Given the description of an element on the screen output the (x, y) to click on. 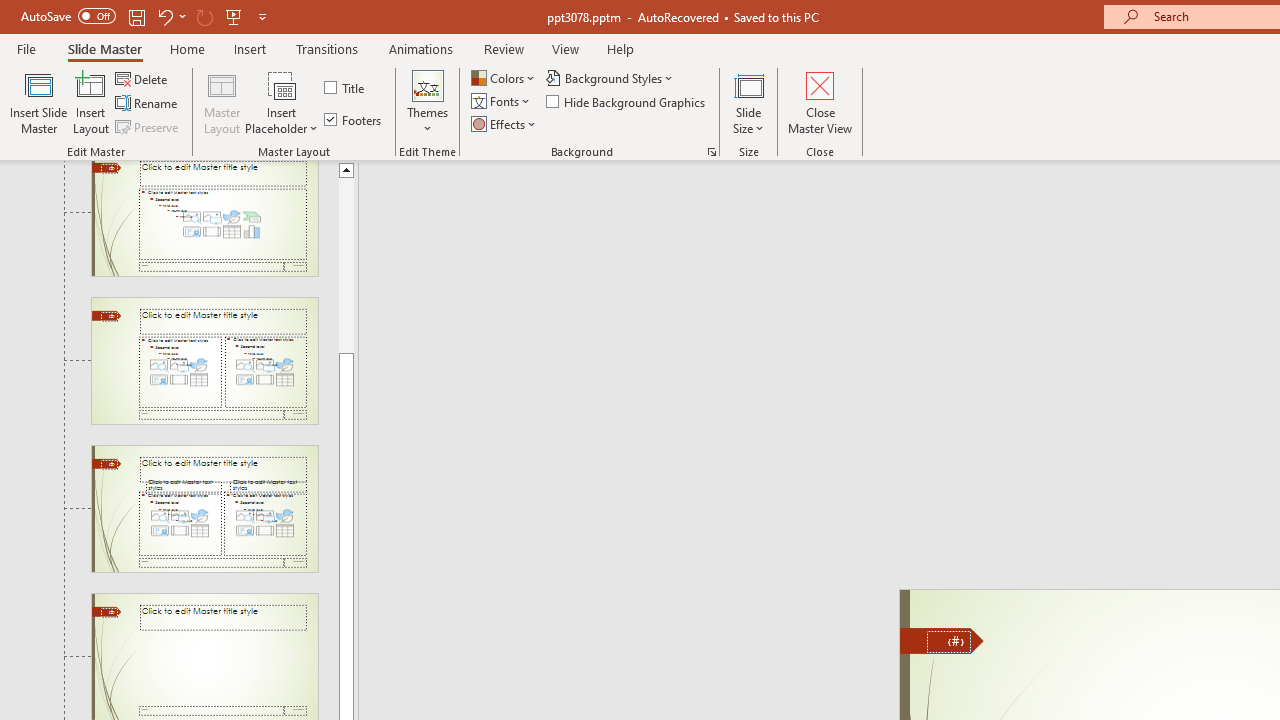
Slide Number (948, 641)
Close Master View (820, 102)
Master Layout... (221, 102)
Format Background... (711, 151)
